Given the description of an element on the screen output the (x, y) to click on. 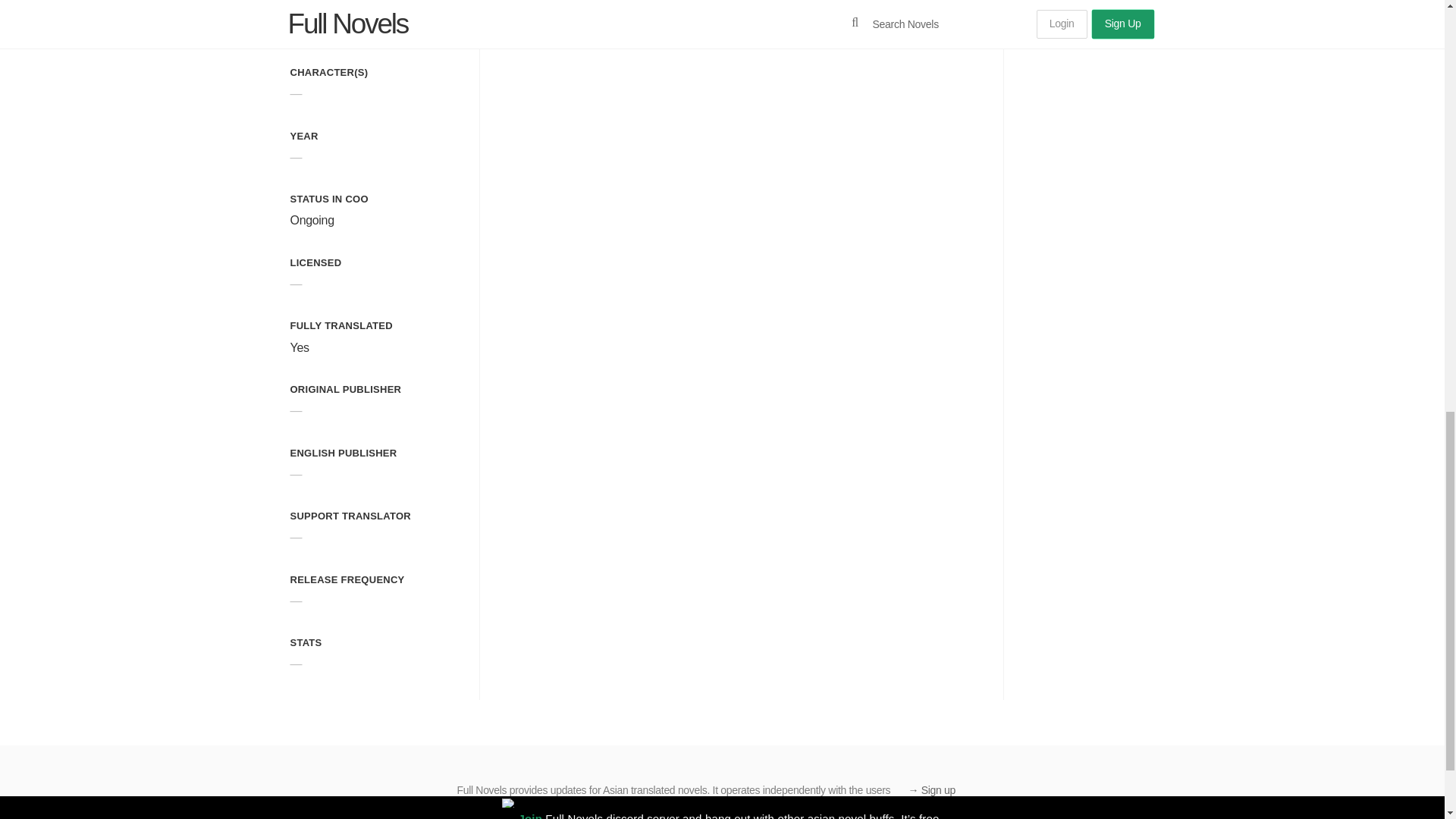
c1-63 (809, 21)
Support Translator (349, 515)
4 months ago (517, 20)
WuxP (718, 21)
c1-63 (809, 21)
WuxP (718, 21)
Bookmark it (976, 21)
Status in Country of Origin (328, 198)
